Given the description of an element on the screen output the (x, y) to click on. 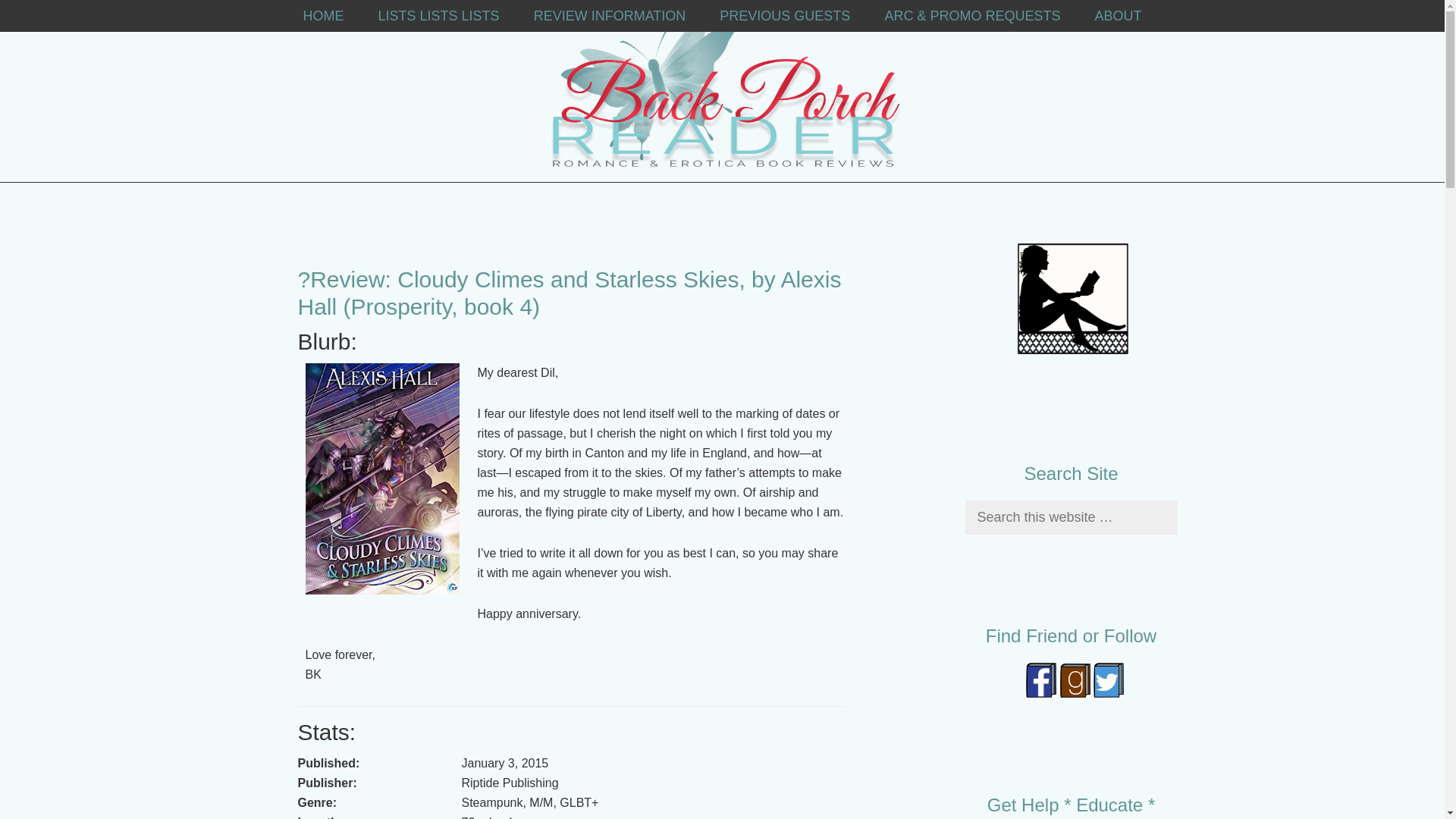
HOME (323, 15)
LISTS LISTS LISTS (438, 15)
PREVIOUS GUESTS (784, 15)
ABOUT (1117, 15)
REVIEW INFORMATION (609, 15)
Back Porch Reader (725, 91)
